Given the description of an element on the screen output the (x, y) to click on. 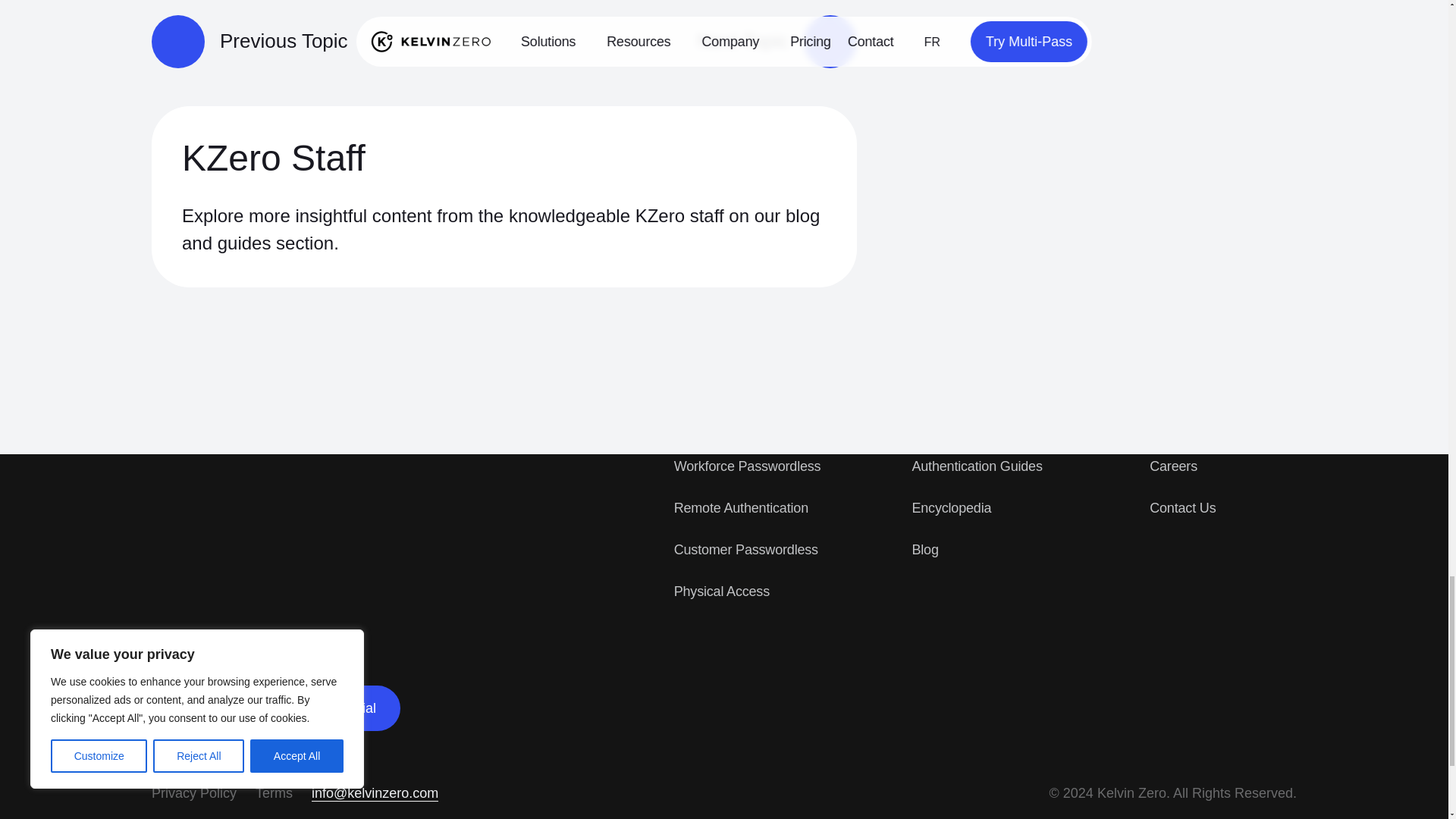
linkedin (162, 707)
Previous Topic (249, 40)
x (211, 707)
